Given the description of an element on the screen output the (x, y) to click on. 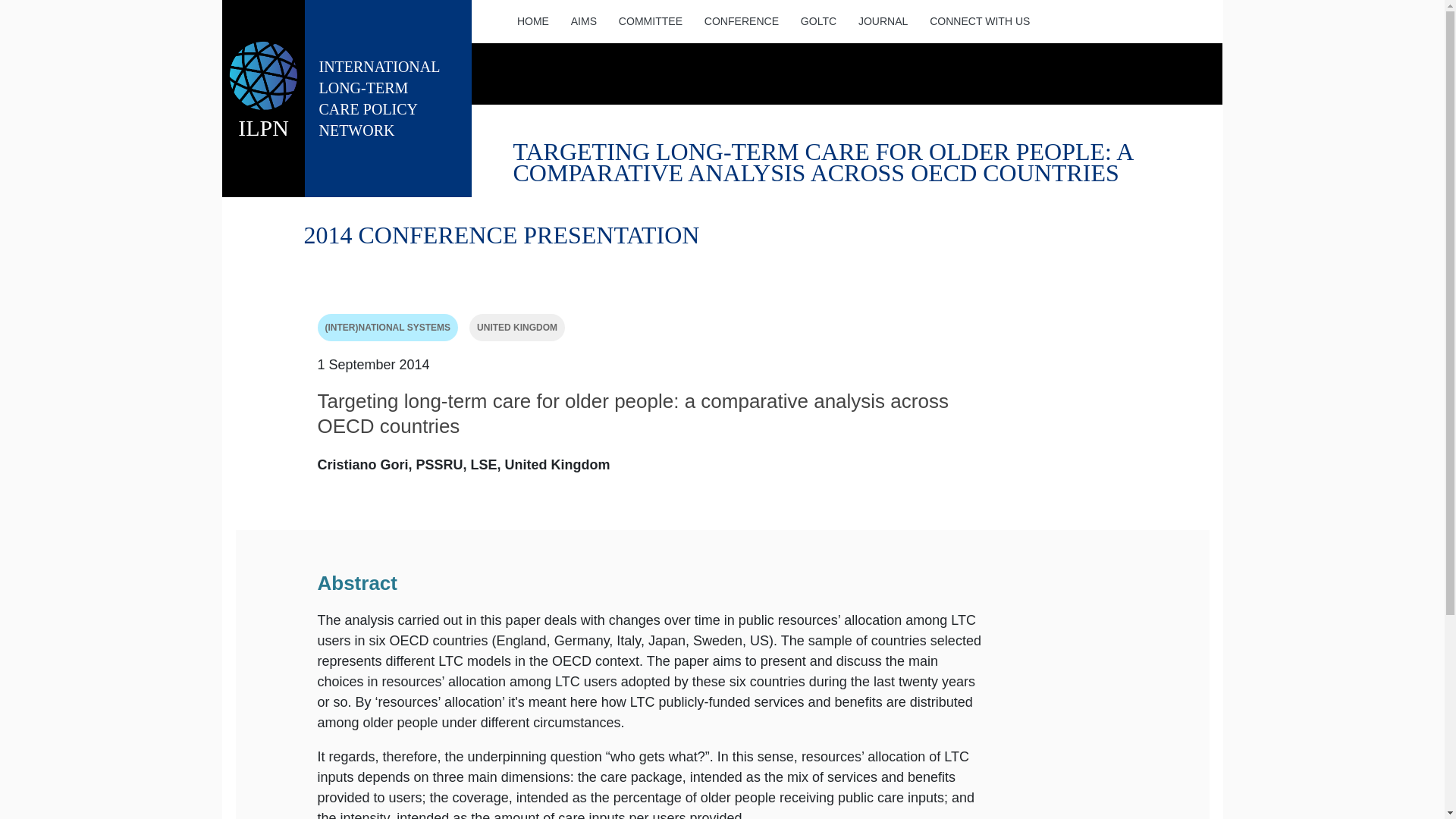
CONFERENCE (388, 98)
JOURNAL (741, 21)
CONNECT WITH US (882, 21)
HOME (979, 21)
GOLTC (532, 21)
UNITED KINGDOM (818, 21)
COMMITTEE (517, 327)
AIMS (650, 21)
CONNECT WITH US (583, 21)
CONFERENCE (979, 21)
JOURNAL (741, 21)
AIMS (882, 21)
GOLTC (583, 21)
COMMITTEE (818, 21)
